Given the description of an element on the screen output the (x, y) to click on. 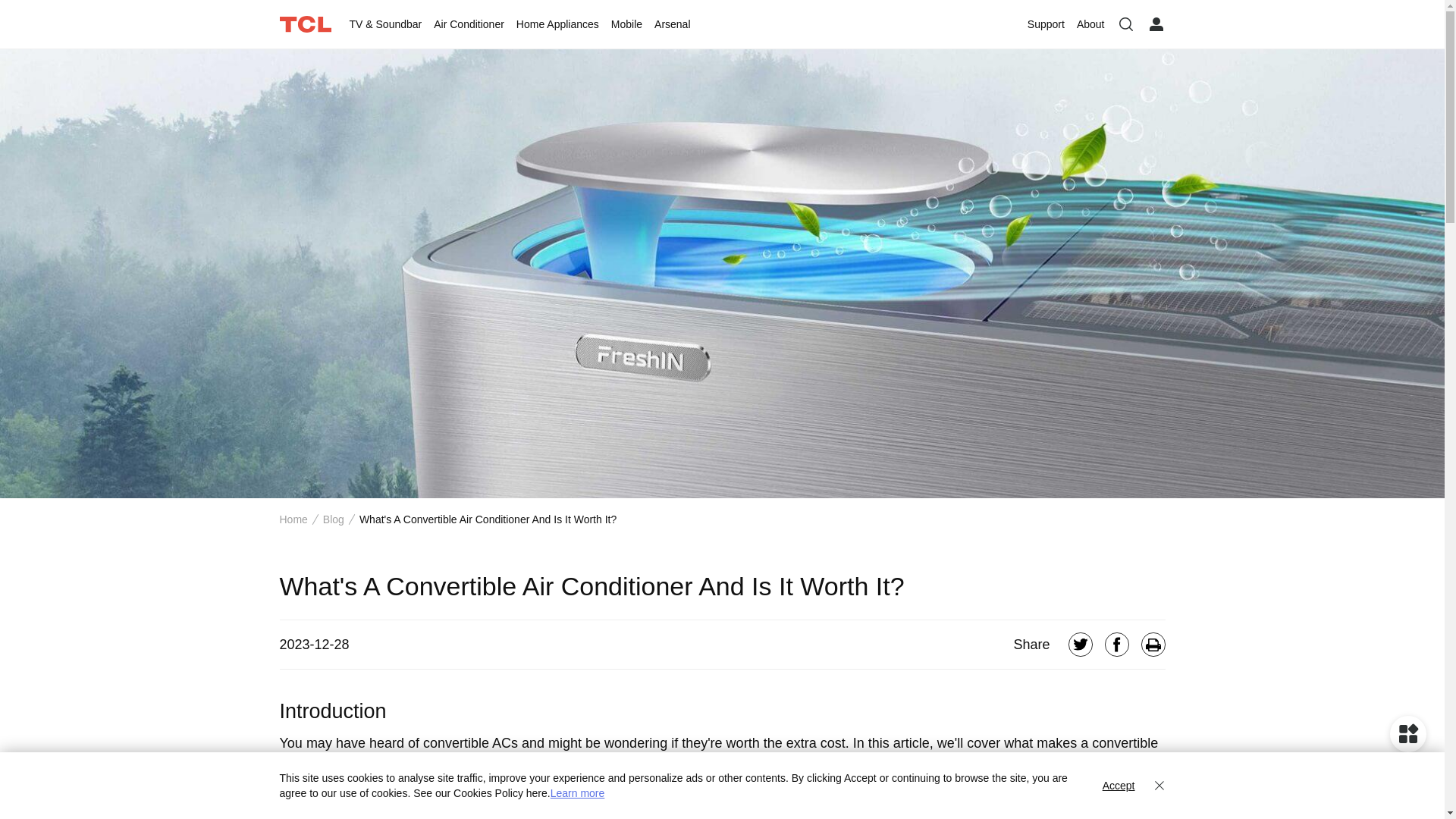
Air Conditioner (469, 24)
